Given the description of an element on the screen output the (x, y) to click on. 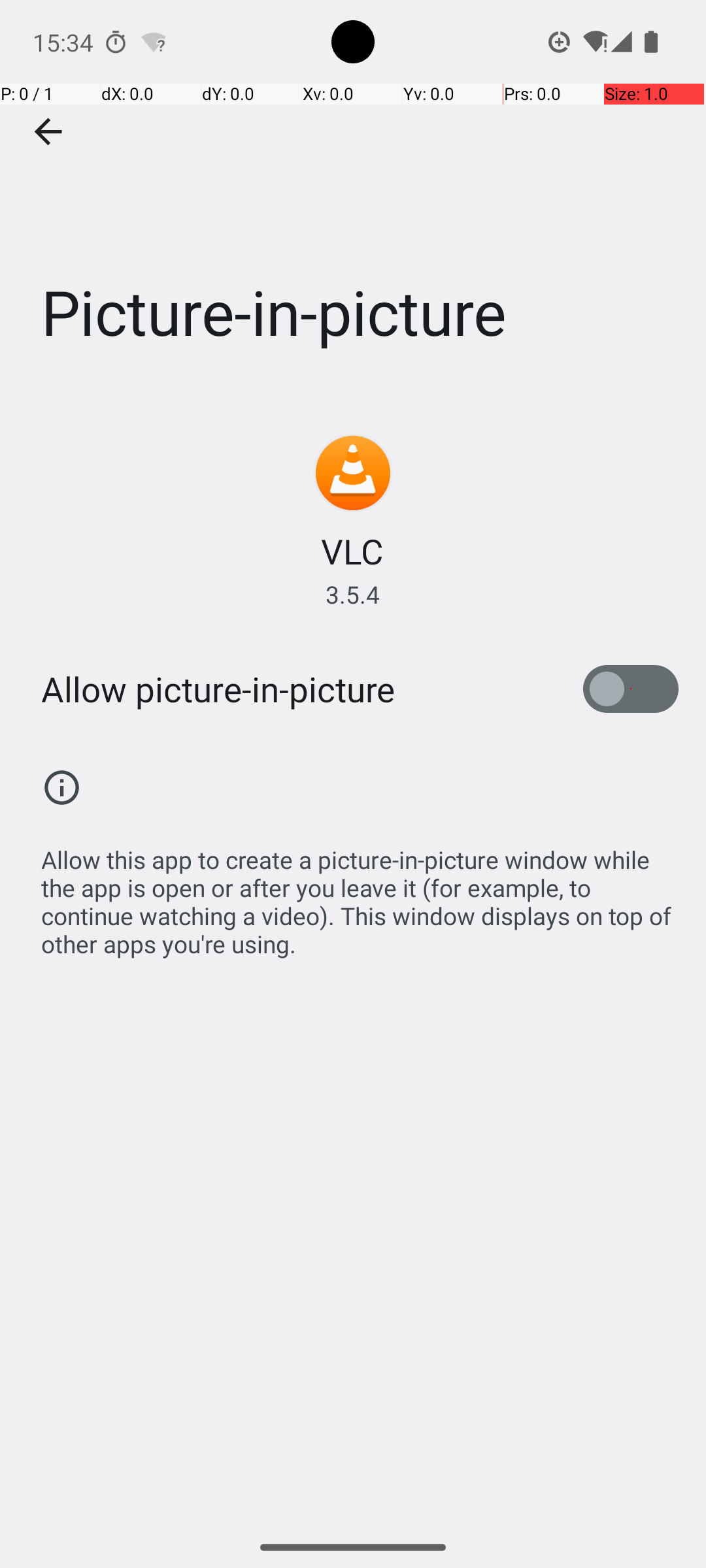
Picture-in-picture Element type: android.widget.FrameLayout (353, 195)
3.5.4 Element type: android.widget.TextView (352, 593)
Allow picture-in-picture Element type: android.widget.TextView (218, 688)
Allow this app to create a picture-in-picture window while the app is open or after you leave it (for example, to continue watching a video). This window displays on top of other apps you're using. Element type: android.widget.TextView (359, 894)
